Given the description of an element on the screen output the (x, y) to click on. 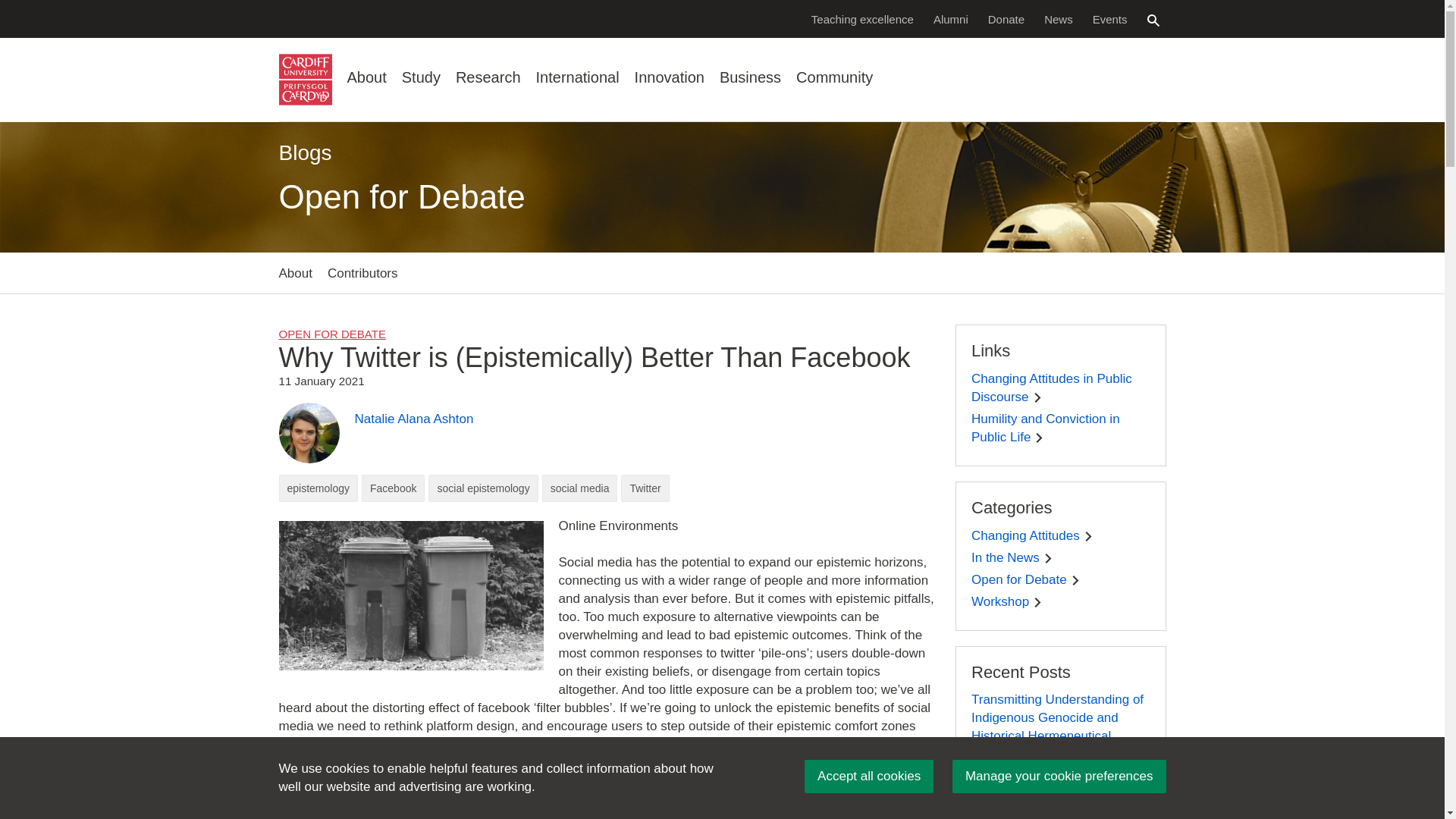
Chevron right (1075, 580)
Donate (1005, 19)
Chevron right (1047, 558)
View all posts in Open for Debate (332, 333)
Chevron right (1038, 438)
Cardiff University logo (305, 79)
News (1058, 19)
Chevron right (1037, 397)
Events (1109, 19)
Chevron right (1027, 755)
